Given the description of an element on the screen output the (x, y) to click on. 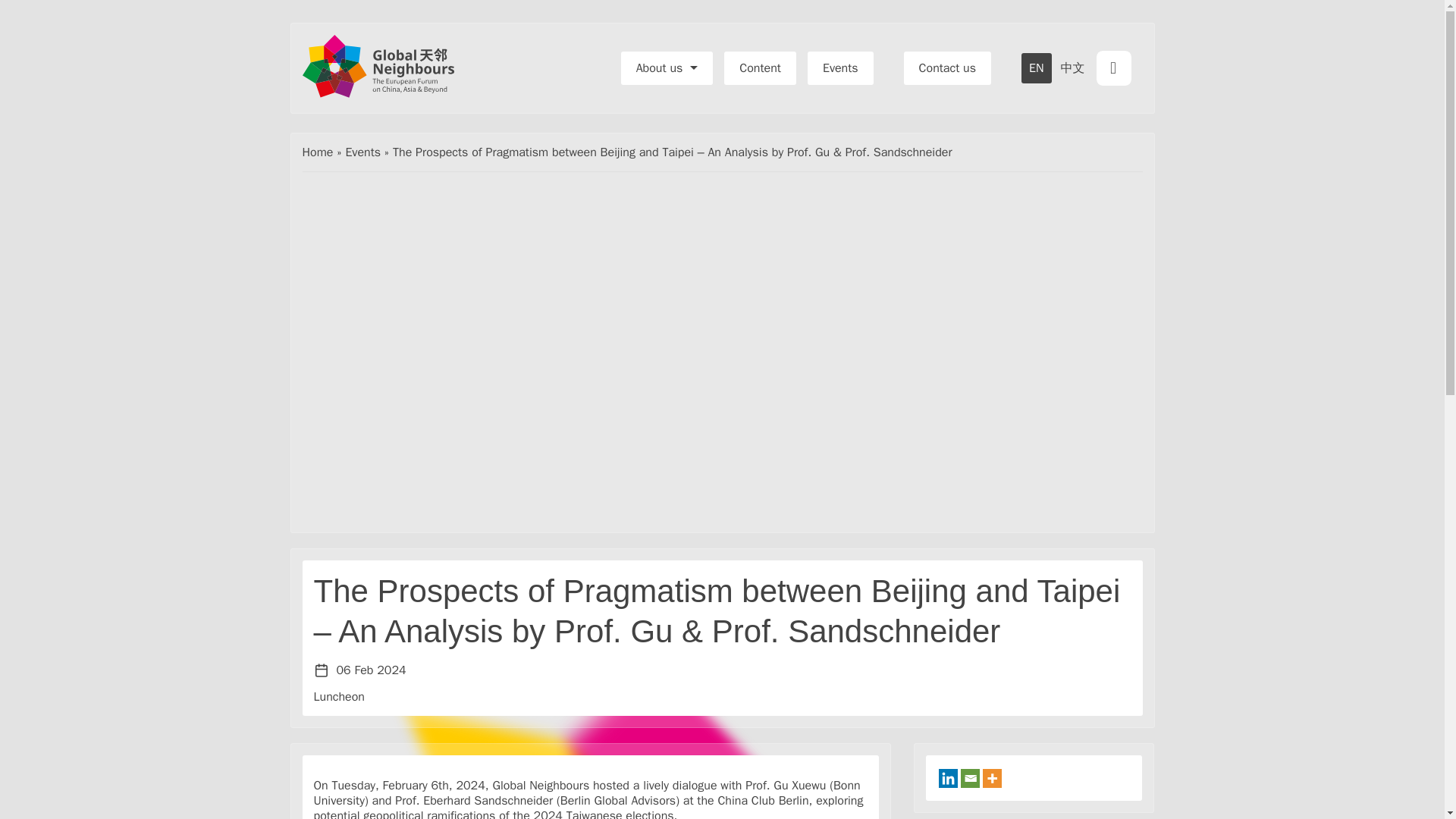
Events (362, 151)
Linkedin (948, 778)
About us (667, 68)
Contact us (947, 68)
Events (840, 68)
Home (317, 151)
Email (969, 778)
More (991, 778)
Content (759, 68)
EN (1036, 68)
